Given the description of an element on the screen output the (x, y) to click on. 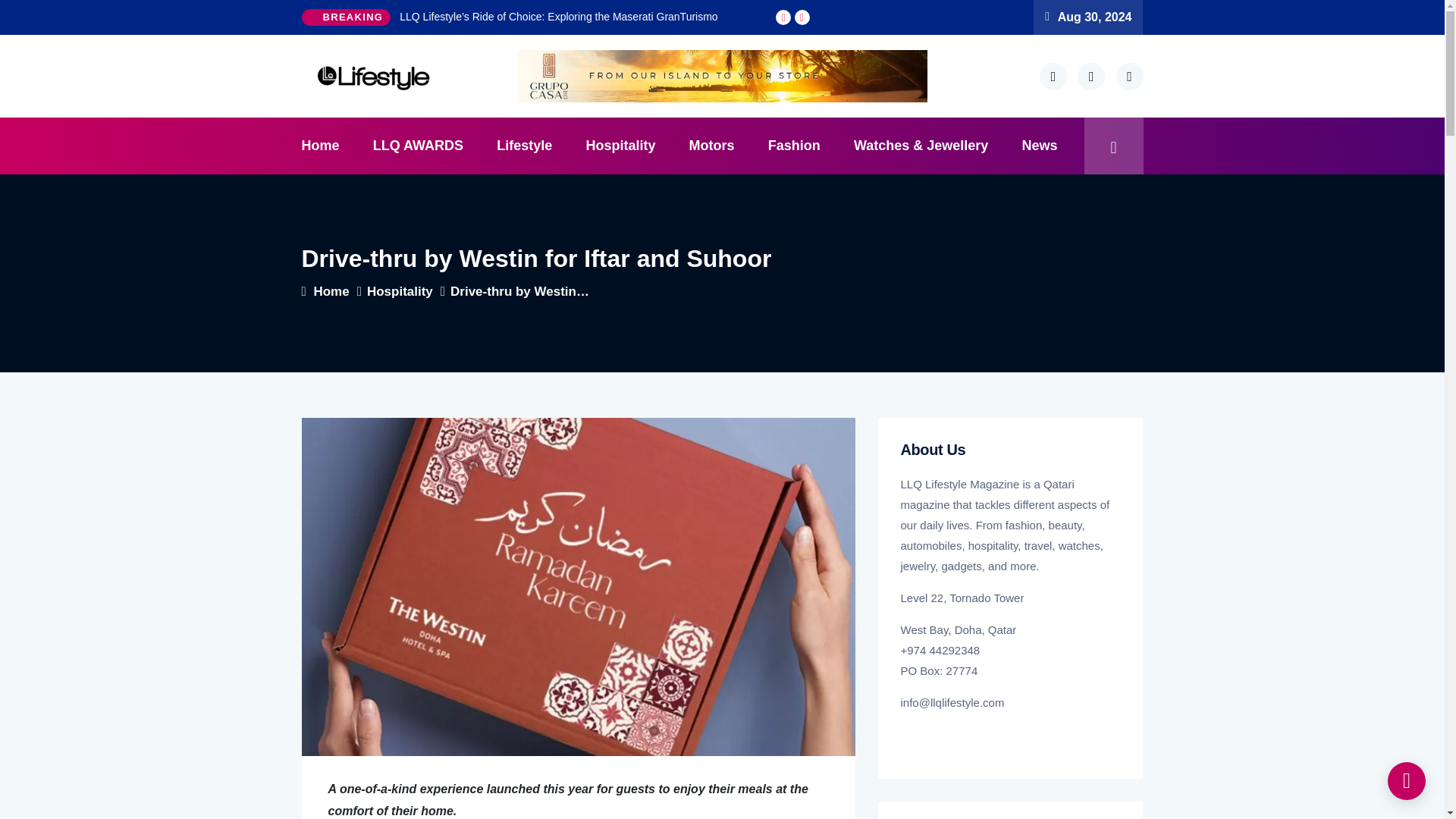
LLQ AWARDS (418, 145)
Hospitality (403, 291)
Home (328, 145)
Home (334, 291)
Lifestyle (524, 145)
Hospitality (619, 145)
Motors (711, 145)
News (1040, 145)
Fashion (793, 145)
